Given the description of an element on the screen output the (x, y) to click on. 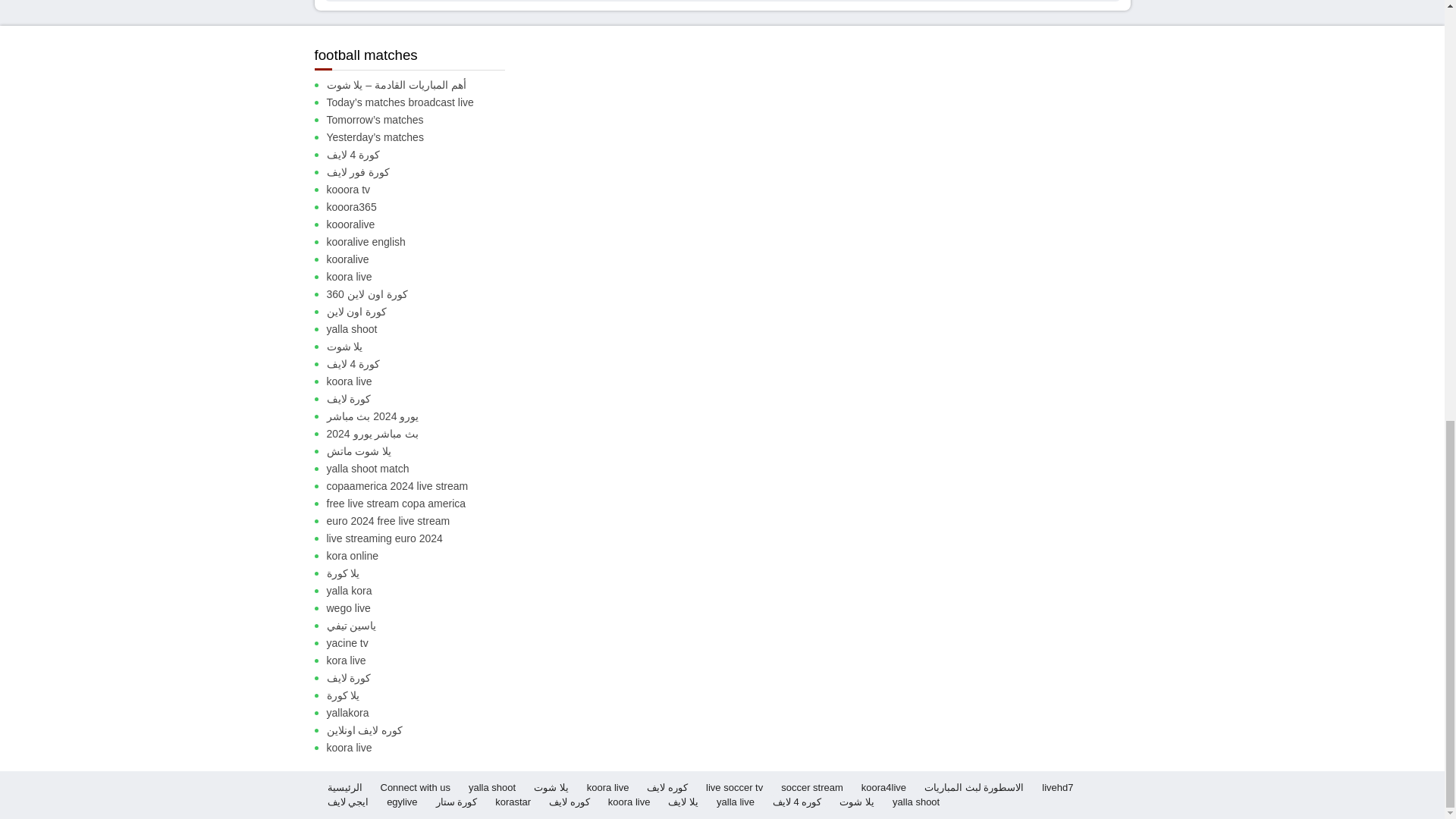
euro 2024 free live stream (421, 521)
free live stream copa america (421, 503)
copaamerica 2024 live stream (421, 486)
koora live (421, 277)
kooralive (421, 259)
yalla shoot (421, 329)
yalla shoot match (421, 468)
koooralive (421, 224)
kooora tv (421, 189)
koora live (421, 381)
